Given the description of an element on the screen output the (x, y) to click on. 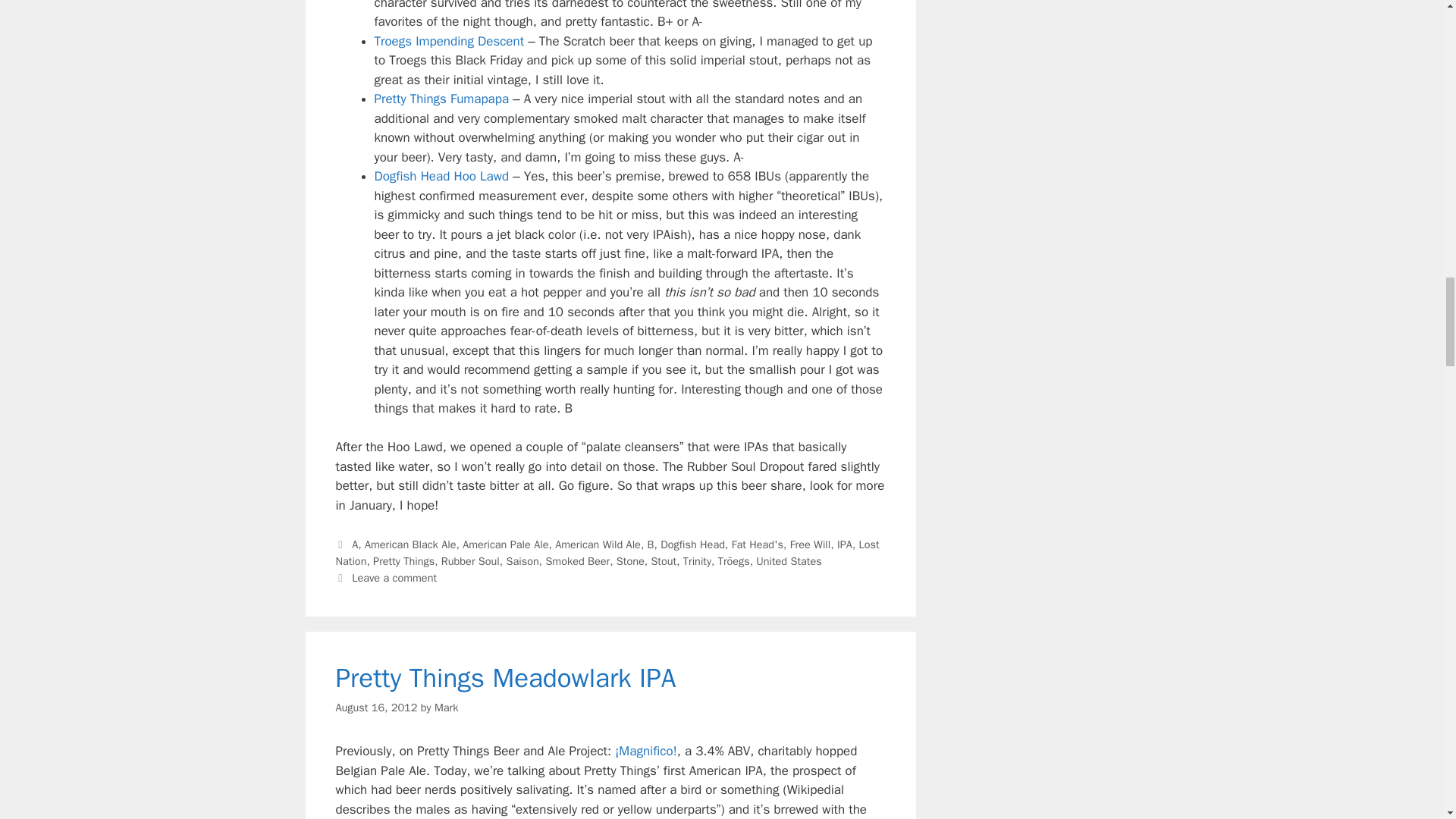
Dogfish Head (693, 544)
Fat Head's (757, 544)
American Black Ale (411, 544)
Pretty Things Fumapapa (441, 98)
View all posts by Mark (445, 707)
American Pale Ale (505, 544)
Dogfish Head Hoo Lawd (441, 176)
American Wild Ale (597, 544)
Troegs Impending Descent (449, 41)
